Given the description of an element on the screen output the (x, y) to click on. 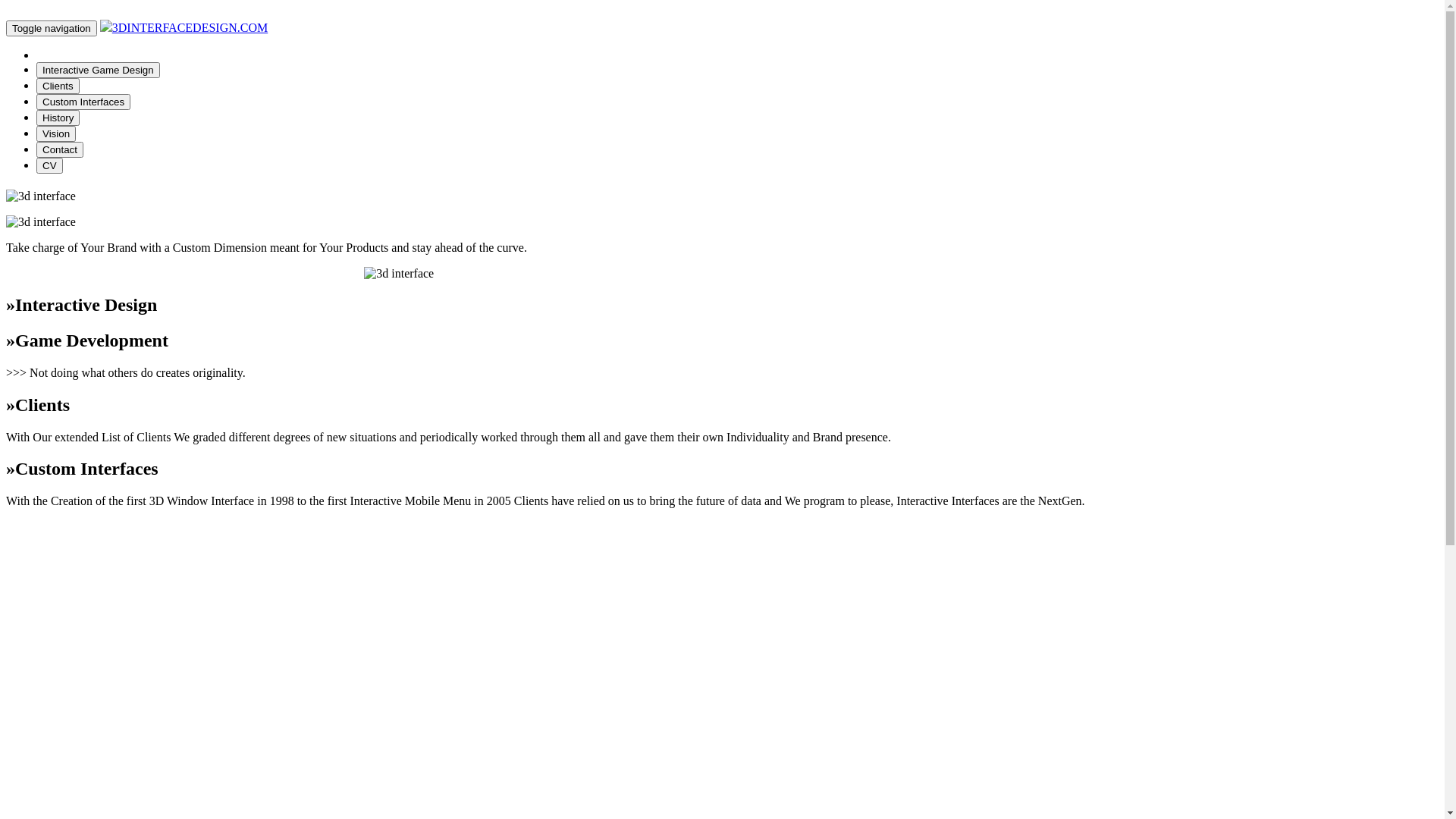
Custom Interfaces Element type: text (83, 101)
Custom Interfaces Element type: text (83, 100)
Contact Element type: text (59, 149)
Vision Element type: text (55, 132)
Vision Element type: text (55, 133)
History Element type: text (57, 117)
Clients Element type: text (57, 84)
3DINTERFACEDESIGN.COM Element type: text (189, 27)
CV Element type: text (49, 164)
CV Element type: text (49, 165)
Interactive Game Design Element type: text (98, 68)
Clients Element type: text (57, 86)
Interactive Game Design Element type: text (98, 70)
Toggle navigation Element type: text (51, 28)
History Element type: text (57, 116)
Contact Element type: text (59, 148)
